Given the description of an element on the screen output the (x, y) to click on. 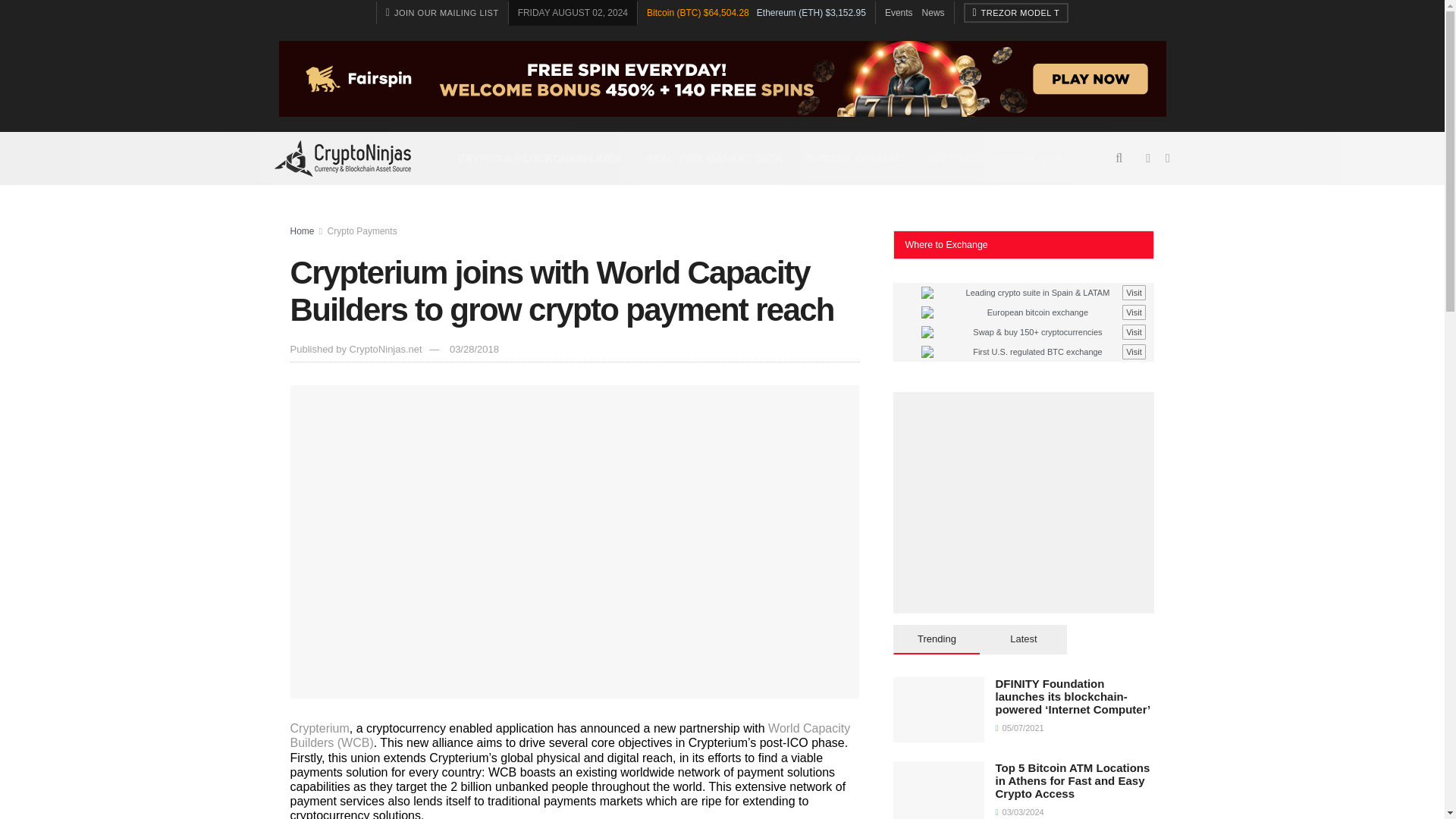
REAL-TIME MARKET DATA (713, 158)
BITCOIN ATM MAP (854, 158)
Crypto Payments (362, 231)
JOIN OUR MAILING LIST (442, 12)
TREZOR MODEL T (1015, 12)
Events (898, 12)
Crypterium (319, 727)
Home (301, 231)
